Given the description of an element on the screen output the (x, y) to click on. 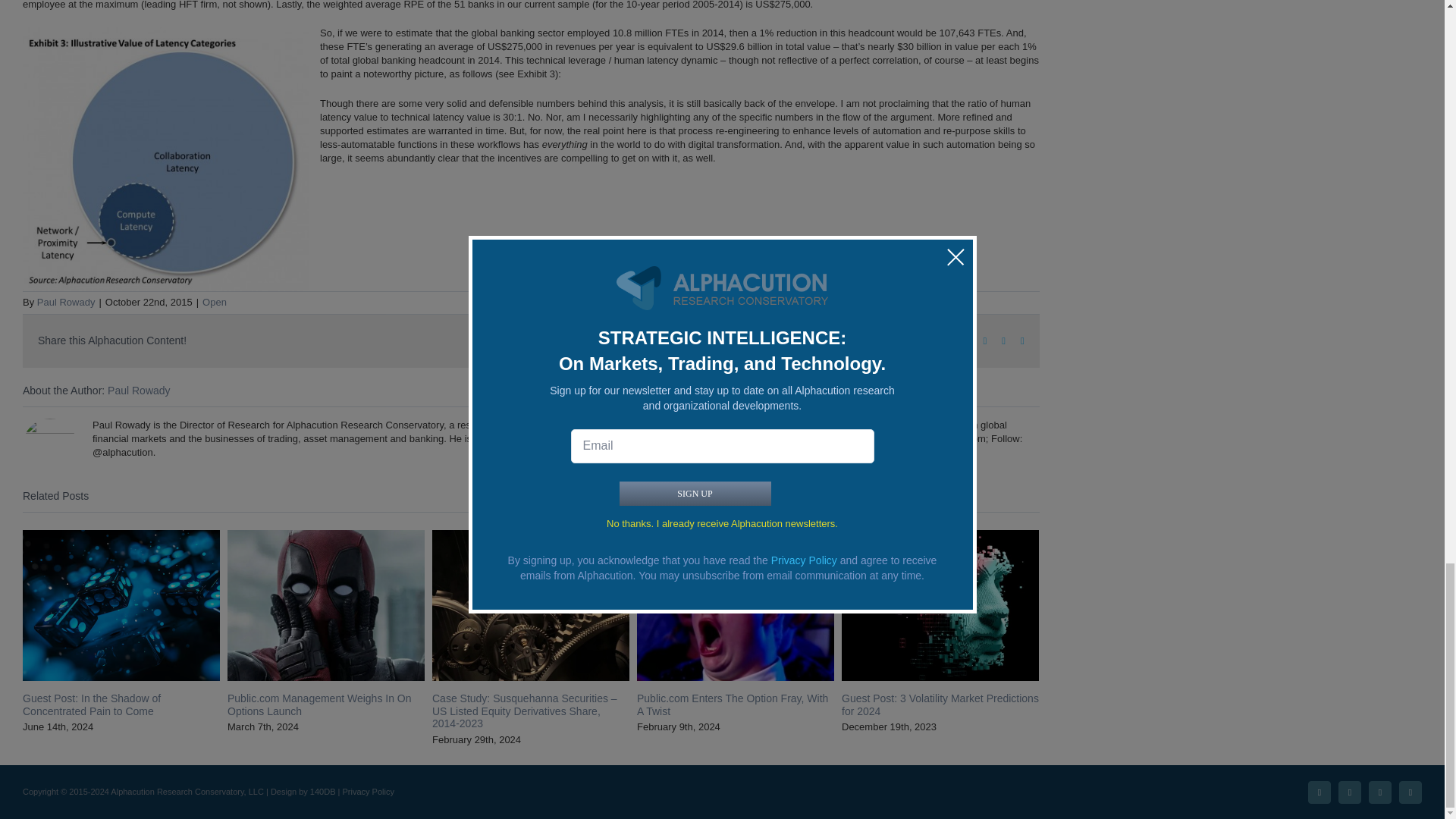
Guest Post: In the Shadow of Concentrated Pain to Come (91, 704)
Posts by Paul Rowady (66, 301)
Public.com Management Weighs In On Options Launch (319, 704)
Guest Post: 3 Volatility Market Predictions for 2024 (940, 704)
Posts by Paul Rowady (138, 390)
Public.com Enters The Option Fray, With A Twist (732, 704)
